Given the description of an element on the screen output the (x, y) to click on. 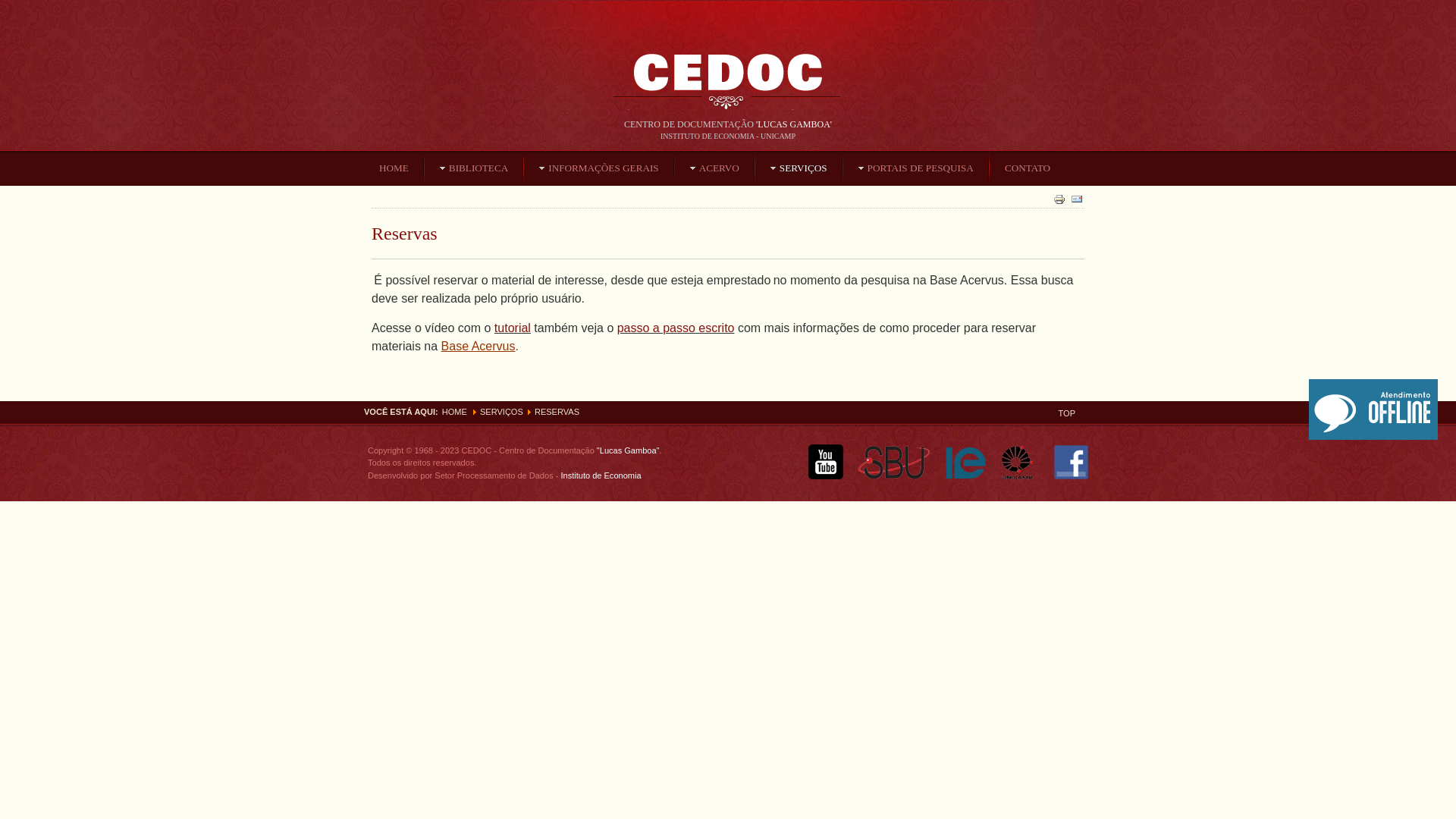
PORTAIS DE PESQUISA Element type: text (915, 167)
ACERVO Element type: text (714, 167)
SBU - UNICAMP Element type: hover (894, 475)
'LUCAS GAMBOA' Element type: text (793, 124)
passo a passo escrito Element type: text (675, 327)
CONTATO Element type: text (1027, 167)
HOME Element type: text (393, 167)
Canal do Insituto de Economia Element type: hover (824, 475)
tutorial Element type: text (512, 327)
Biblioteca - Instituto de Economia - UNICAMP Element type: hover (727, 88)
TOP Element type: text (1066, 412)
Base Acervus. Element type: text (479, 345)
Facebook Element type: hover (1071, 475)
Imprimir Element type: text (1059, 199)
UNICAMP Element type: hover (1021, 475)
"Lucas Gamboa" Element type: text (627, 450)
 Instituto de Economia Element type: text (599, 475)
Instituto de Economia - UNICAMP Element type: hover (965, 475)
HOME Element type: text (454, 411)
BIBLIOTECA Element type: text (473, 167)
Email Element type: text (1076, 199)
